Given the description of an element on the screen output the (x, y) to click on. 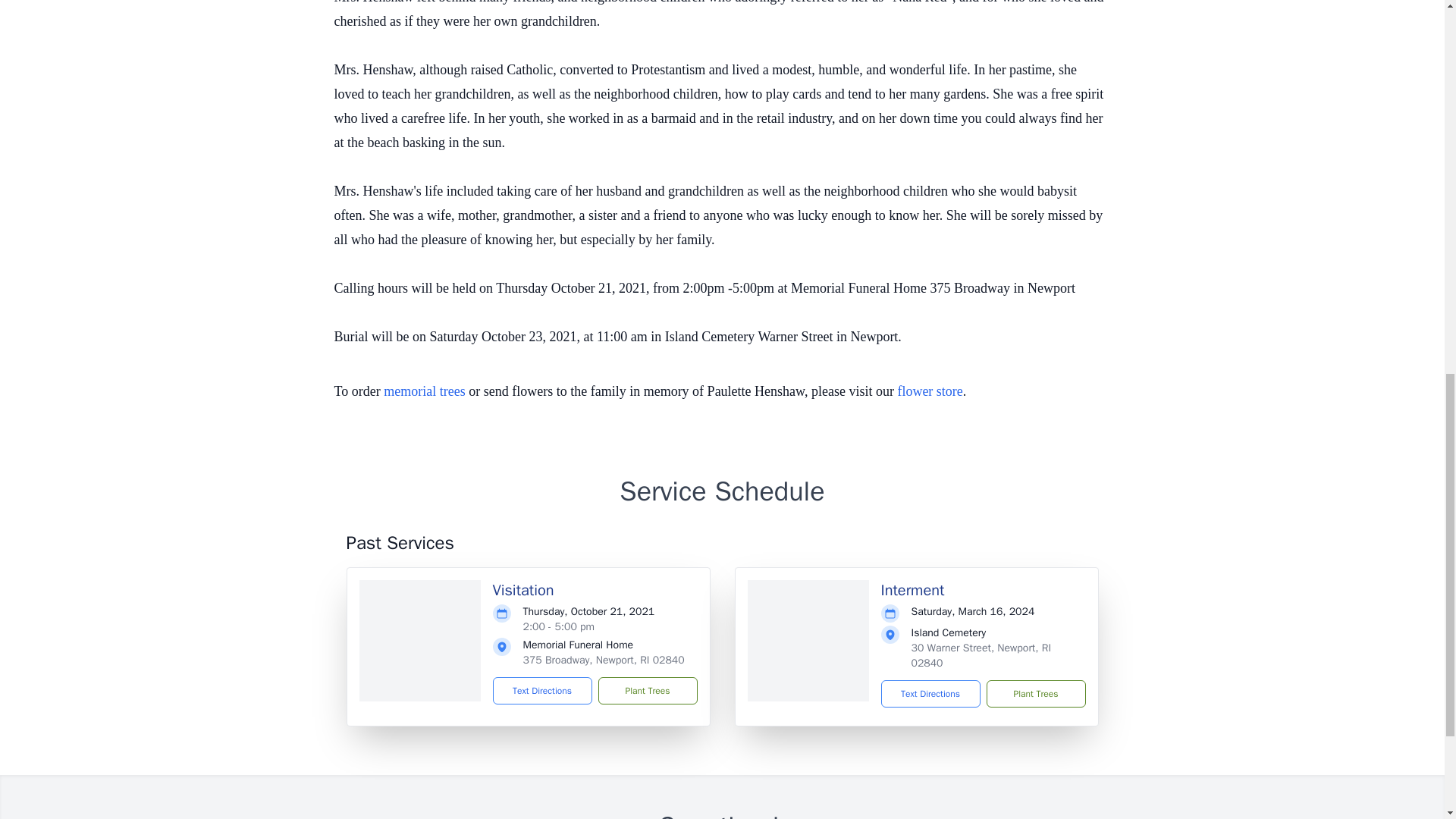
Plant Trees (646, 690)
Text Directions (542, 690)
375 Broadway, Newport, RI 02840 (603, 659)
Text Directions (929, 693)
memorial trees (424, 391)
30 Warner Street, Newport, RI 02840 (981, 655)
Plant Trees (1034, 693)
flower store (929, 391)
